Given the description of an element on the screen output the (x, y) to click on. 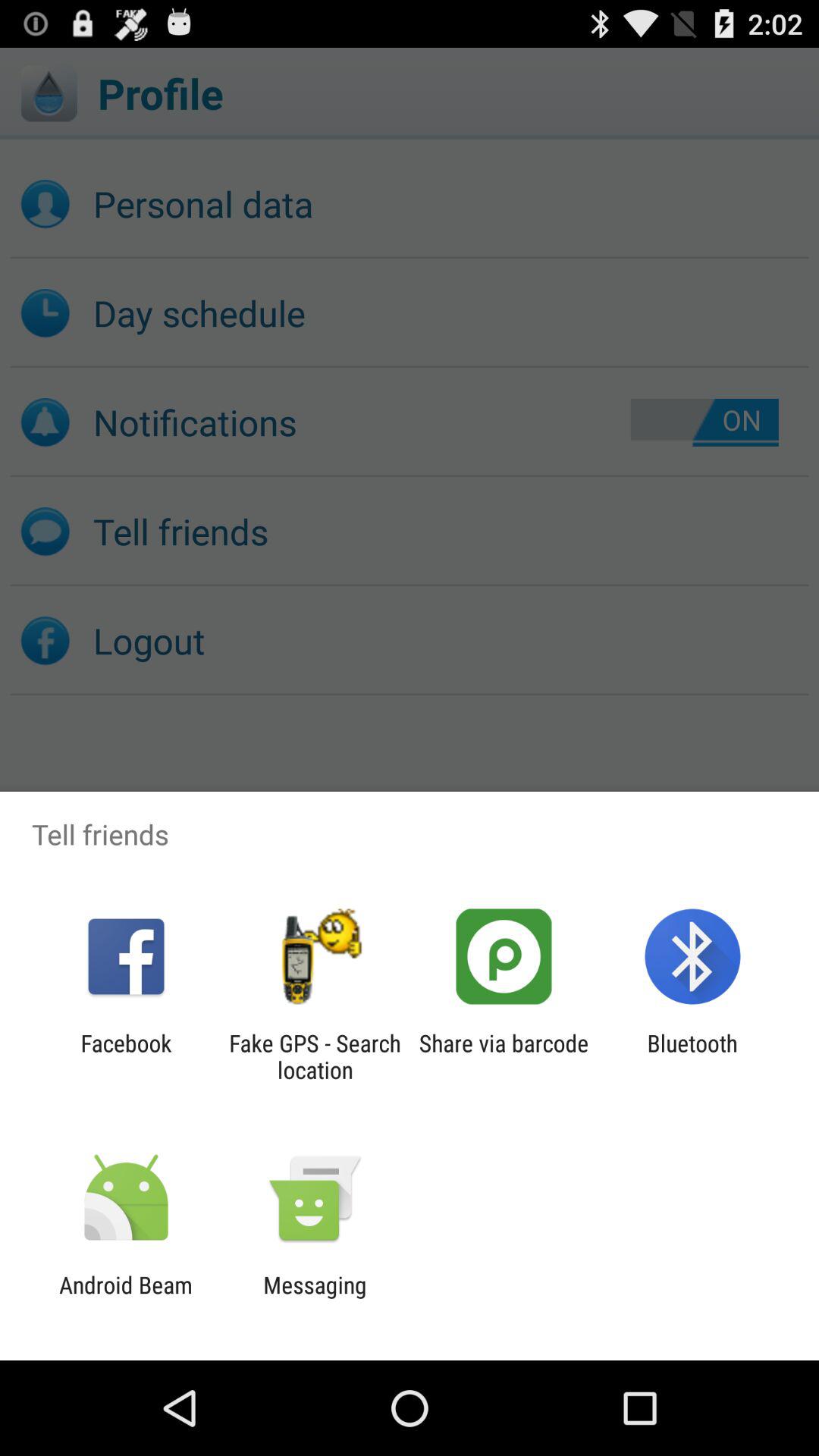
press the item to the right of the share via barcode (692, 1056)
